Given the description of an element on the screen output the (x, y) to click on. 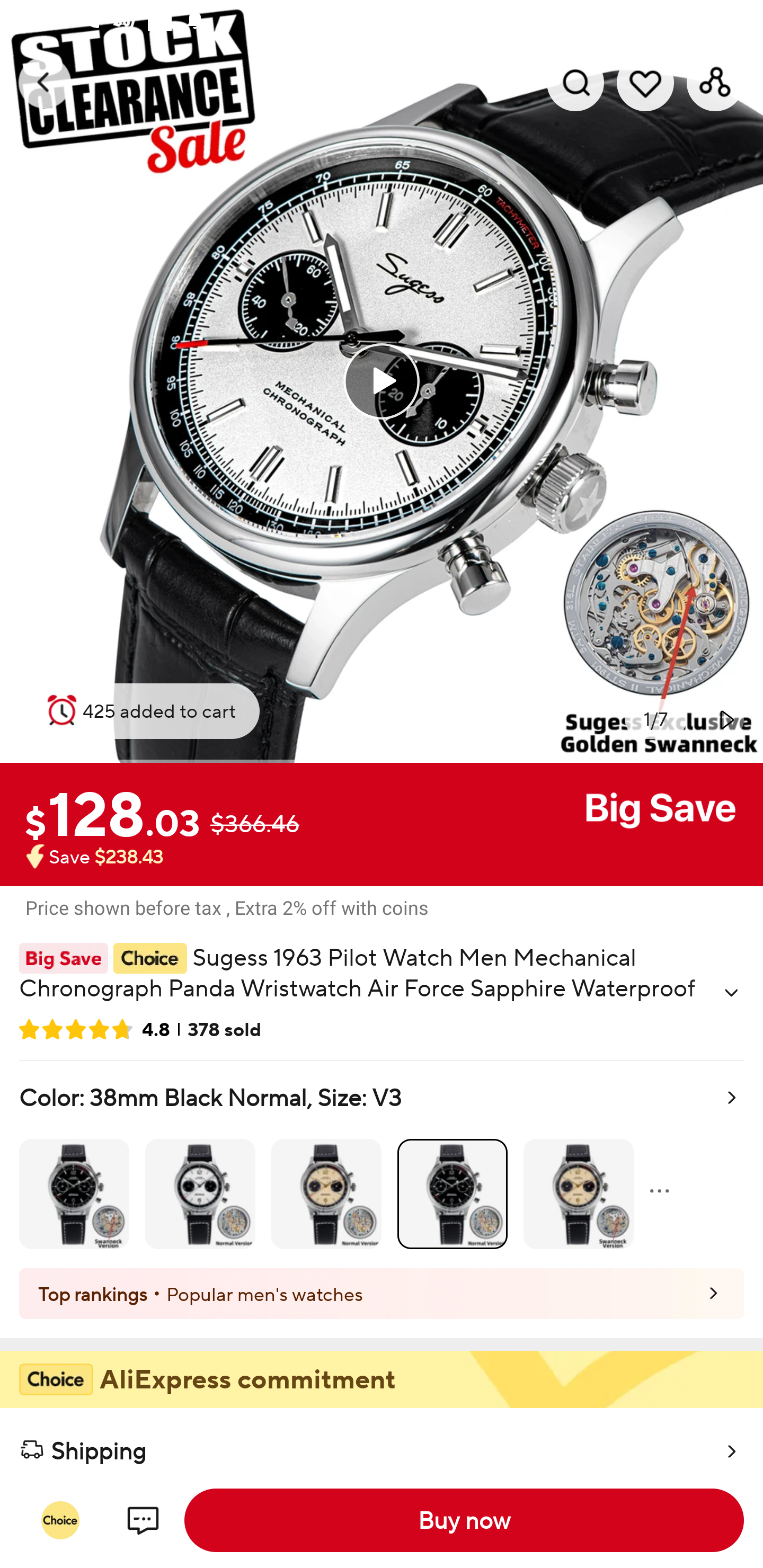
0.0 (381, 381)
Navigate up (44, 82)
 (724, 719)
 (730, 992)
Color: 38mm Black Normal, Size: V3  (381, 1164)
Shipping  (381, 1441)
Buy now (463, 1520)
